Given the description of an element on the screen output the (x, y) to click on. 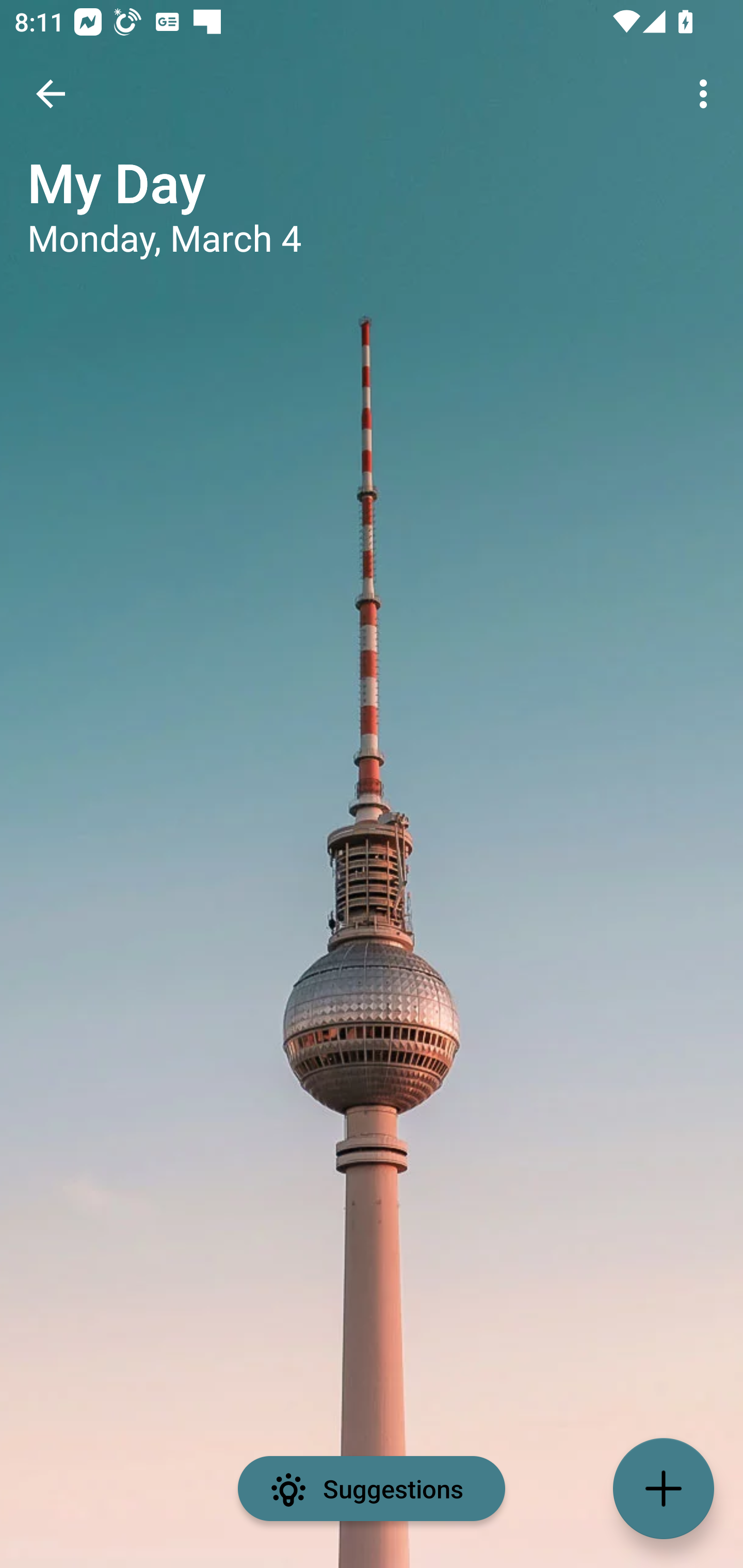
Back (50, 93)
More options (706, 93)
Add a task (663, 1488)
Suggestions (371, 1488)
